Given the description of an element on the screen output the (x, y) to click on. 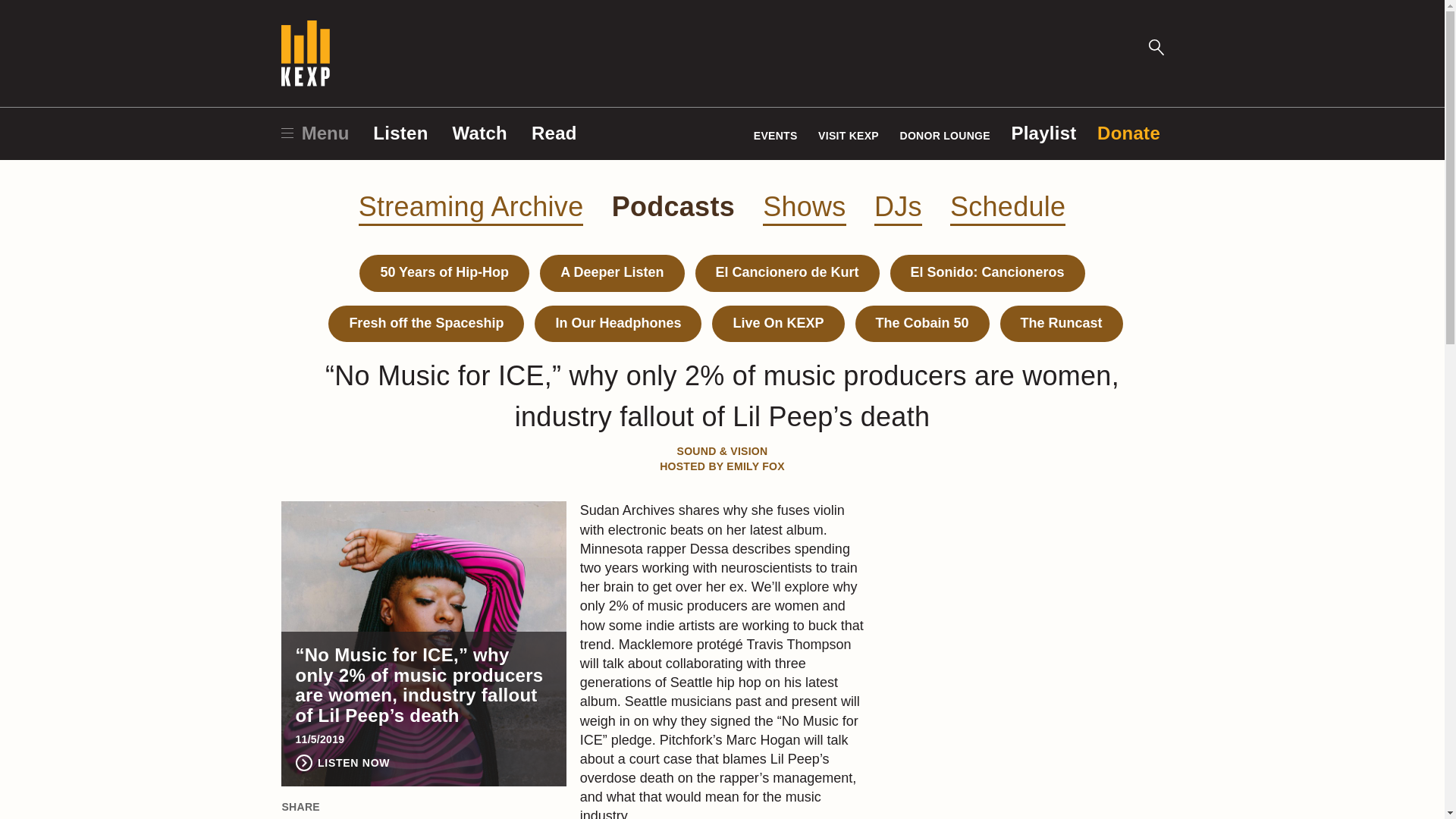
Streaming Archive (470, 208)
Menu (315, 132)
Listen (400, 132)
Donate (1128, 132)
Playlist (1042, 132)
DONOR LOUNGE (944, 135)
EVENTS (775, 135)
Shows (803, 208)
VISIT KEXP (848, 135)
Podcasts (673, 206)
Watch (479, 132)
Read (553, 132)
